Given the description of an element on the screen output the (x, y) to click on. 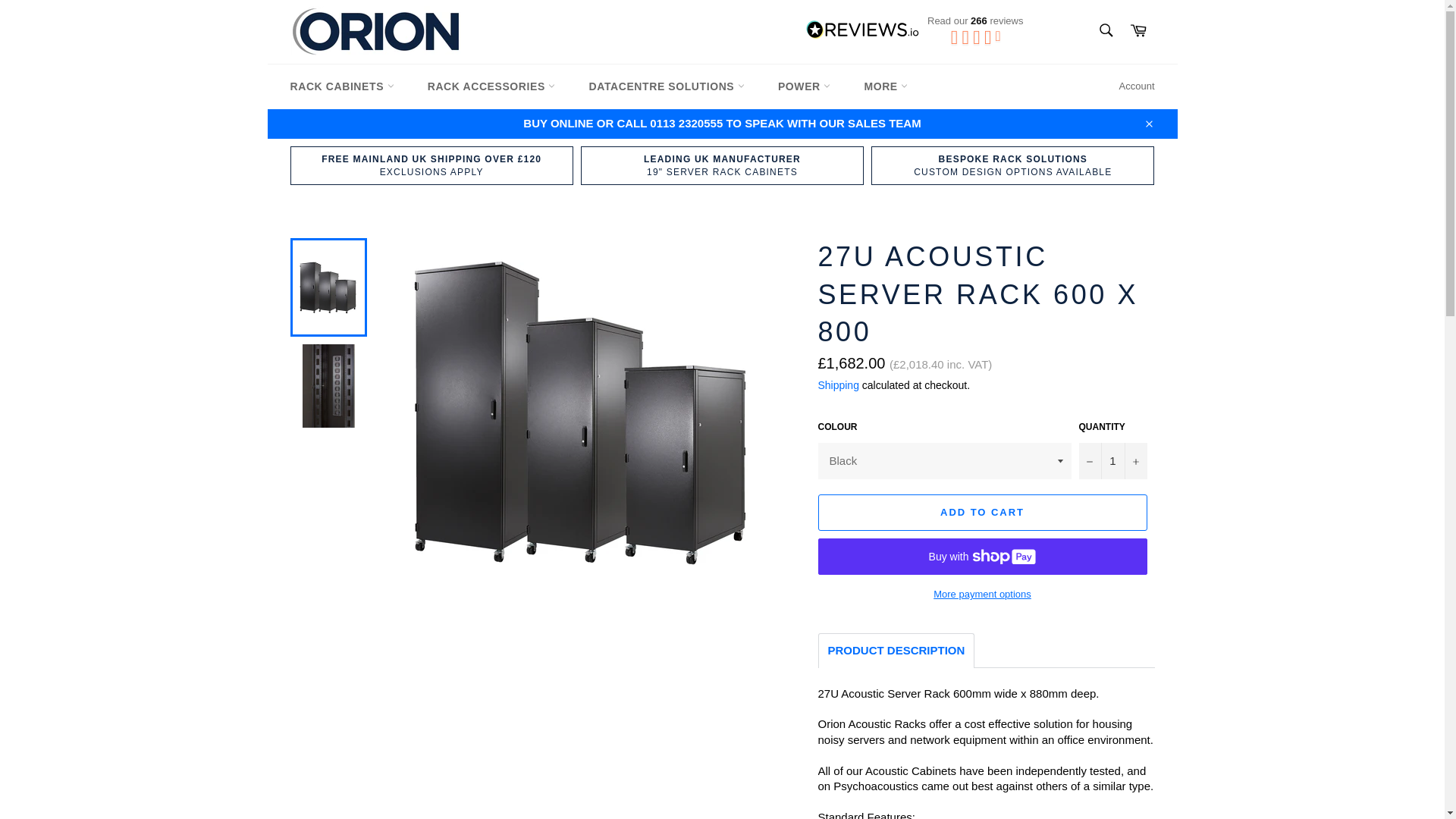
Opens a widget where you can chat to one of our agents (1387, 792)
1 (1112, 461)
Reviews Badge Ribbon Widget (919, 29)
